Given the description of an element on the screen output the (x, y) to click on. 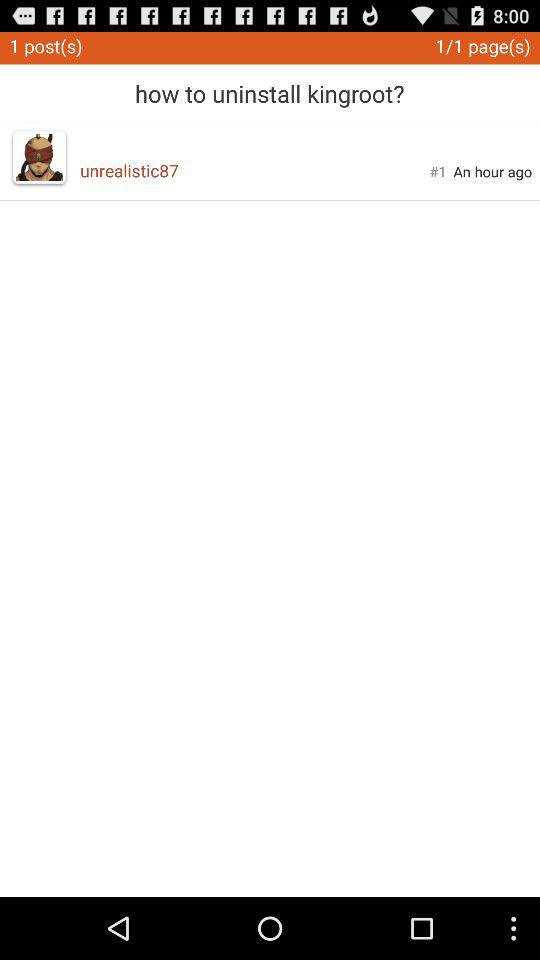
launch the item to the right of the 1 post(s) item (269, 86)
